Given the description of an element on the screen output the (x, y) to click on. 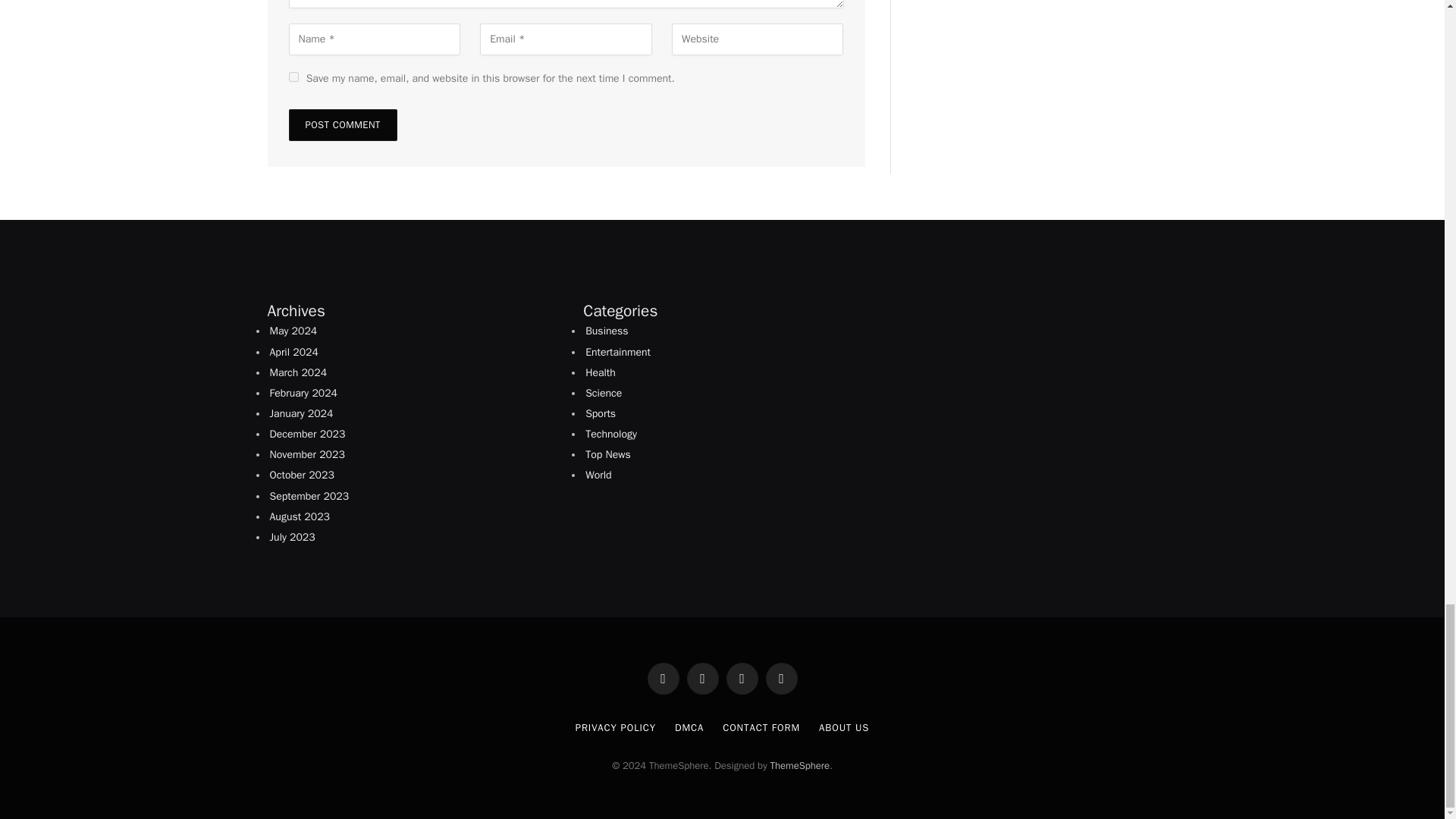
Post Comment (342, 124)
yes (293, 76)
